Given the description of an element on the screen output the (x, y) to click on. 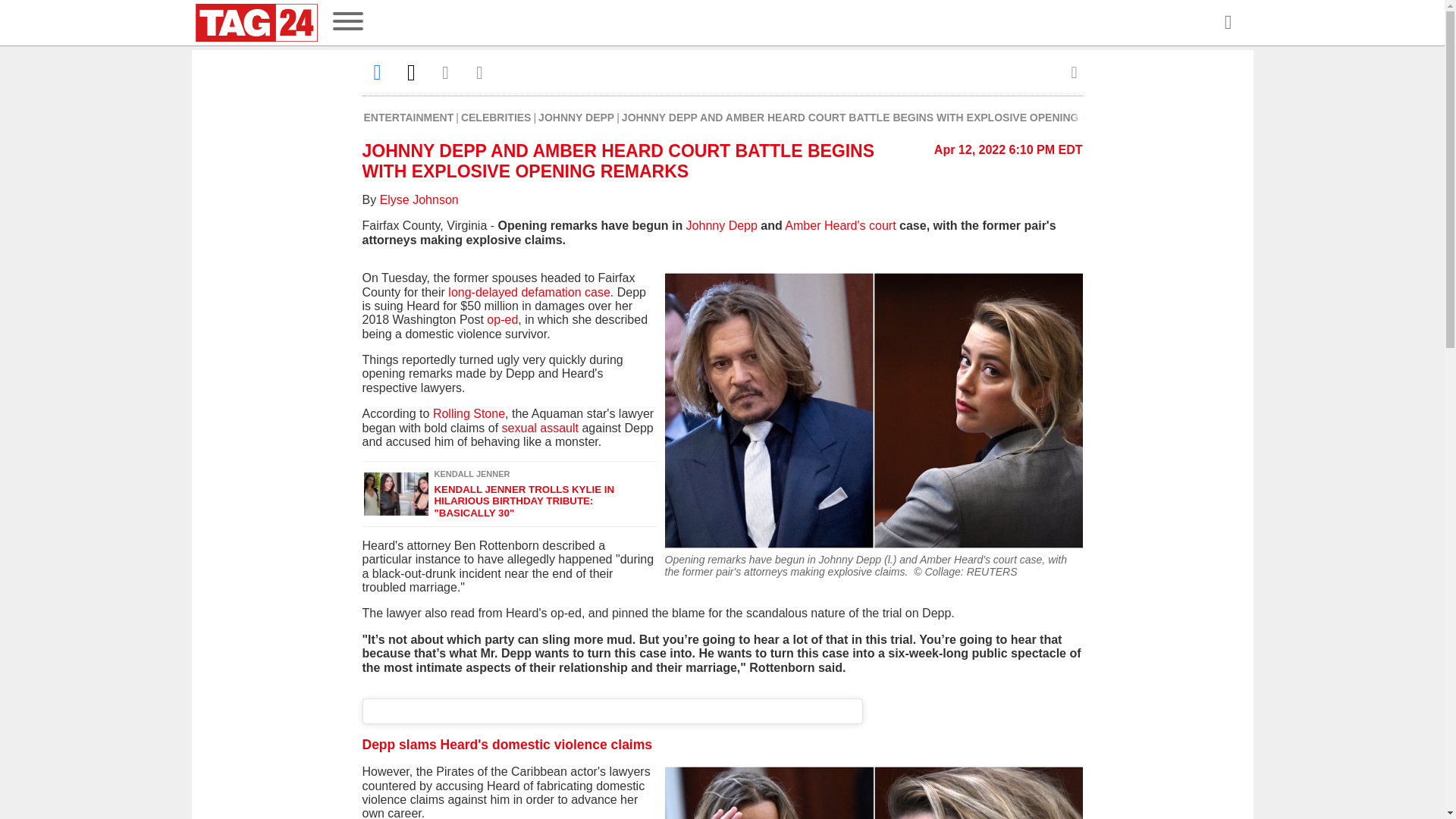
op-ed (500, 318)
Copy link (479, 72)
Johnny Depp (721, 225)
long-delayed defamation case (527, 291)
court (884, 225)
ENTERTAINMENT (409, 117)
Share on Facebook (377, 72)
Elyse Johnson (419, 199)
Share on Twitter (411, 72)
Rolling Stone (468, 413)
